Given the description of an element on the screen output the (x, y) to click on. 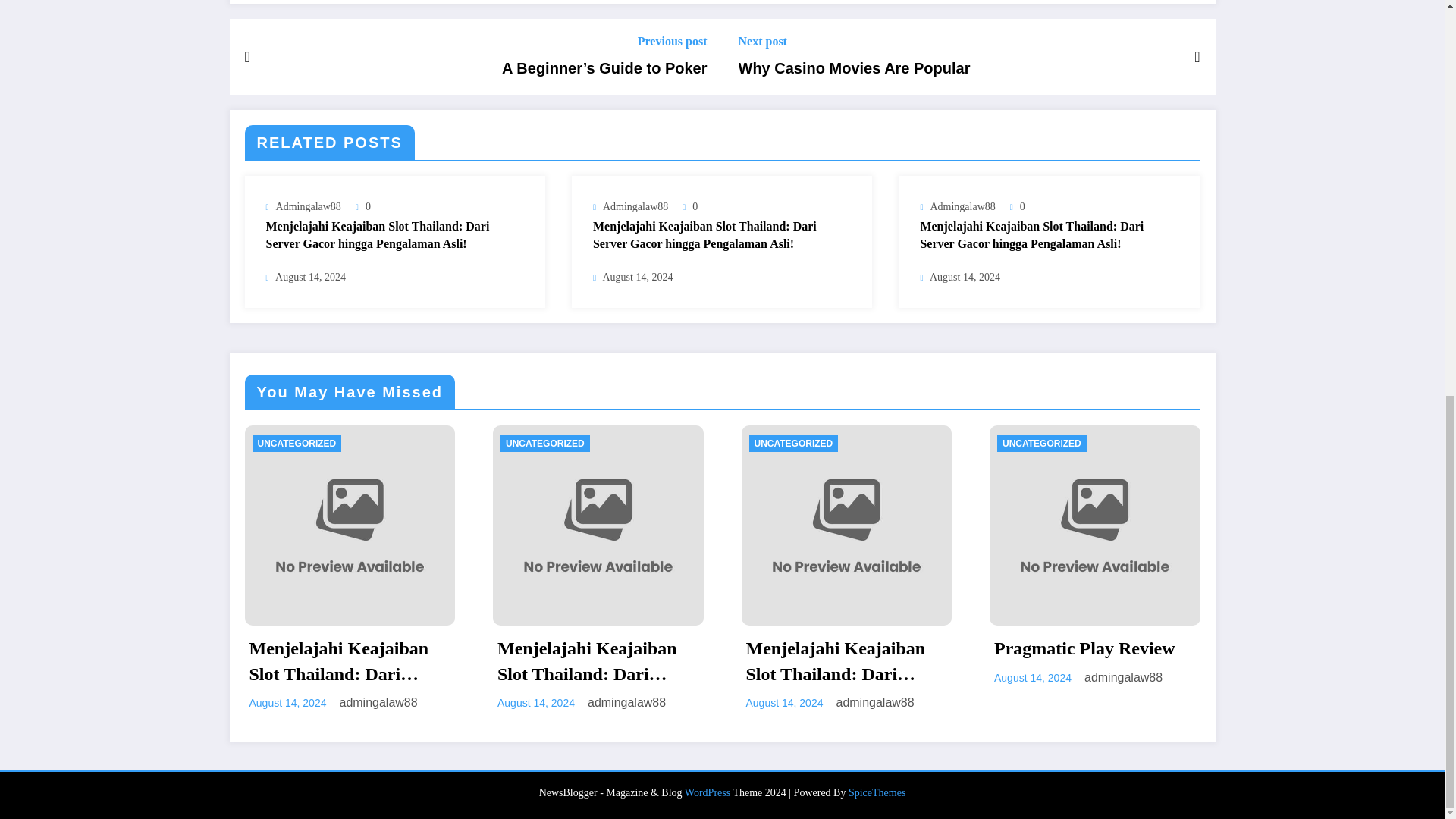
Next post (854, 41)
August 14, 2024 (637, 276)
Previous post (604, 41)
Admingalaw88 (962, 206)
Why Casino Movies Are Popular (854, 67)
Admingalaw88 (308, 206)
August 14, 2024 (310, 276)
Admingalaw88 (635, 206)
